Given the description of an element on the screen output the (x, y) to click on. 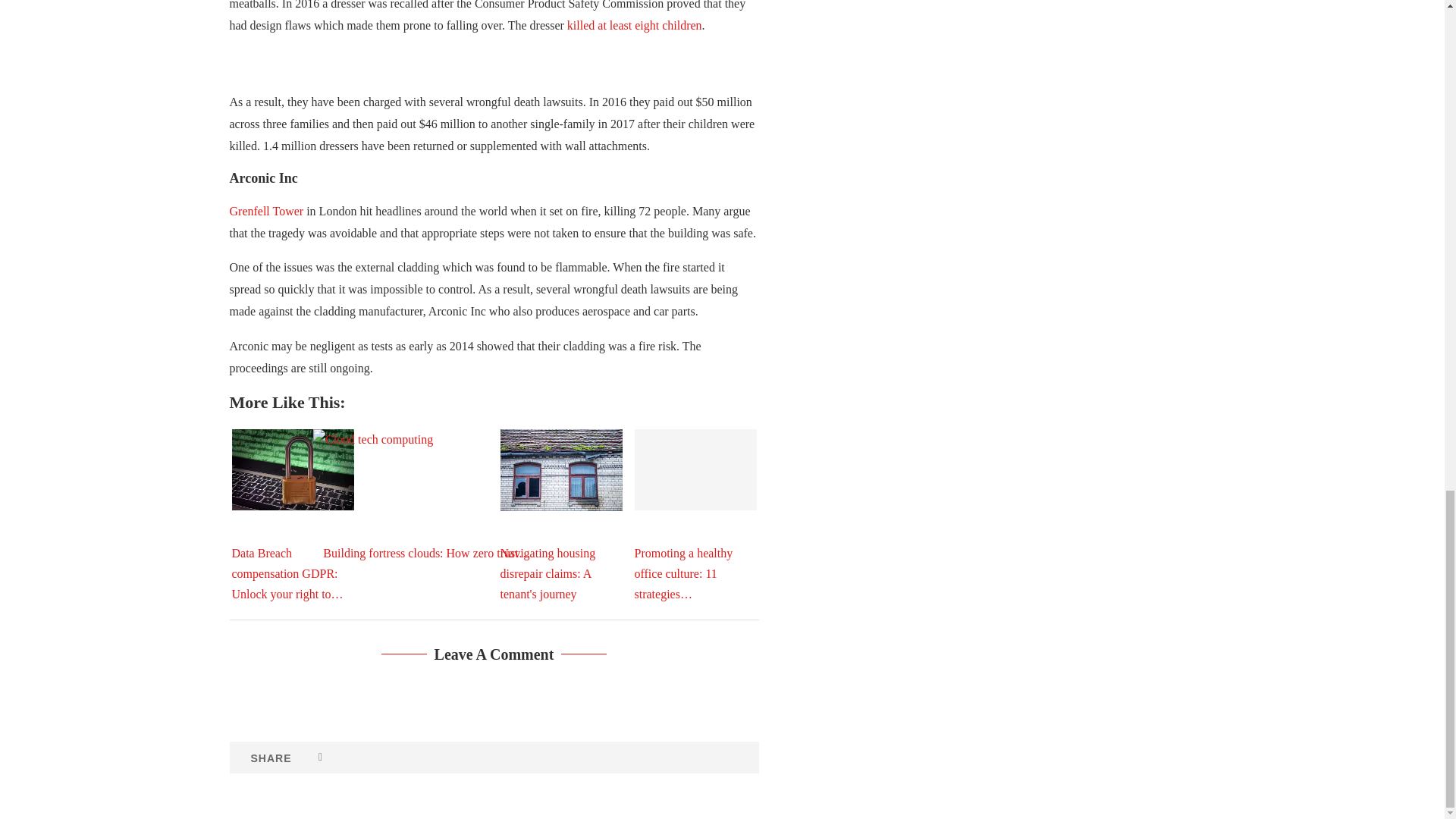
Navigating housing disrepair claims: A tenant's journey (561, 470)
